Given the description of an element on the screen output the (x, y) to click on. 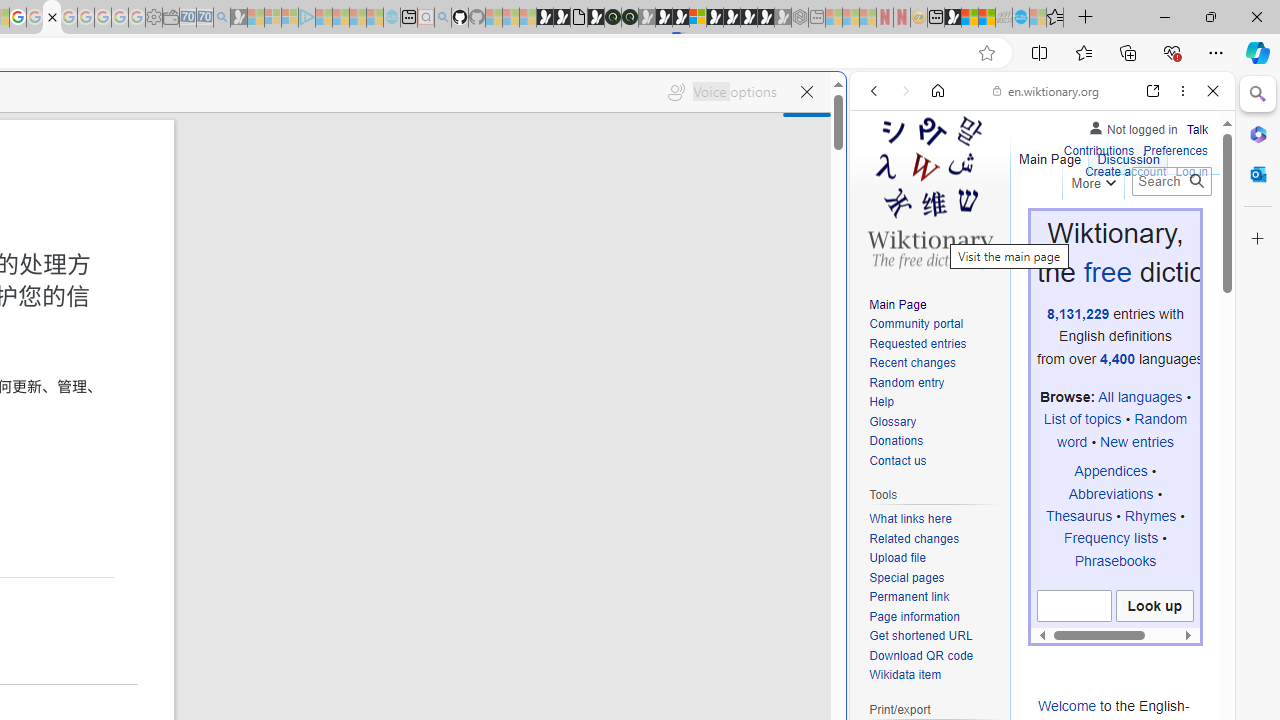
Frequency lists (1110, 538)
Settings - Sleeping (153, 17)
Voice options (721, 92)
Get shortened URL (920, 636)
Glossary (892, 421)
